Given the description of an element on the screen output the (x, y) to click on. 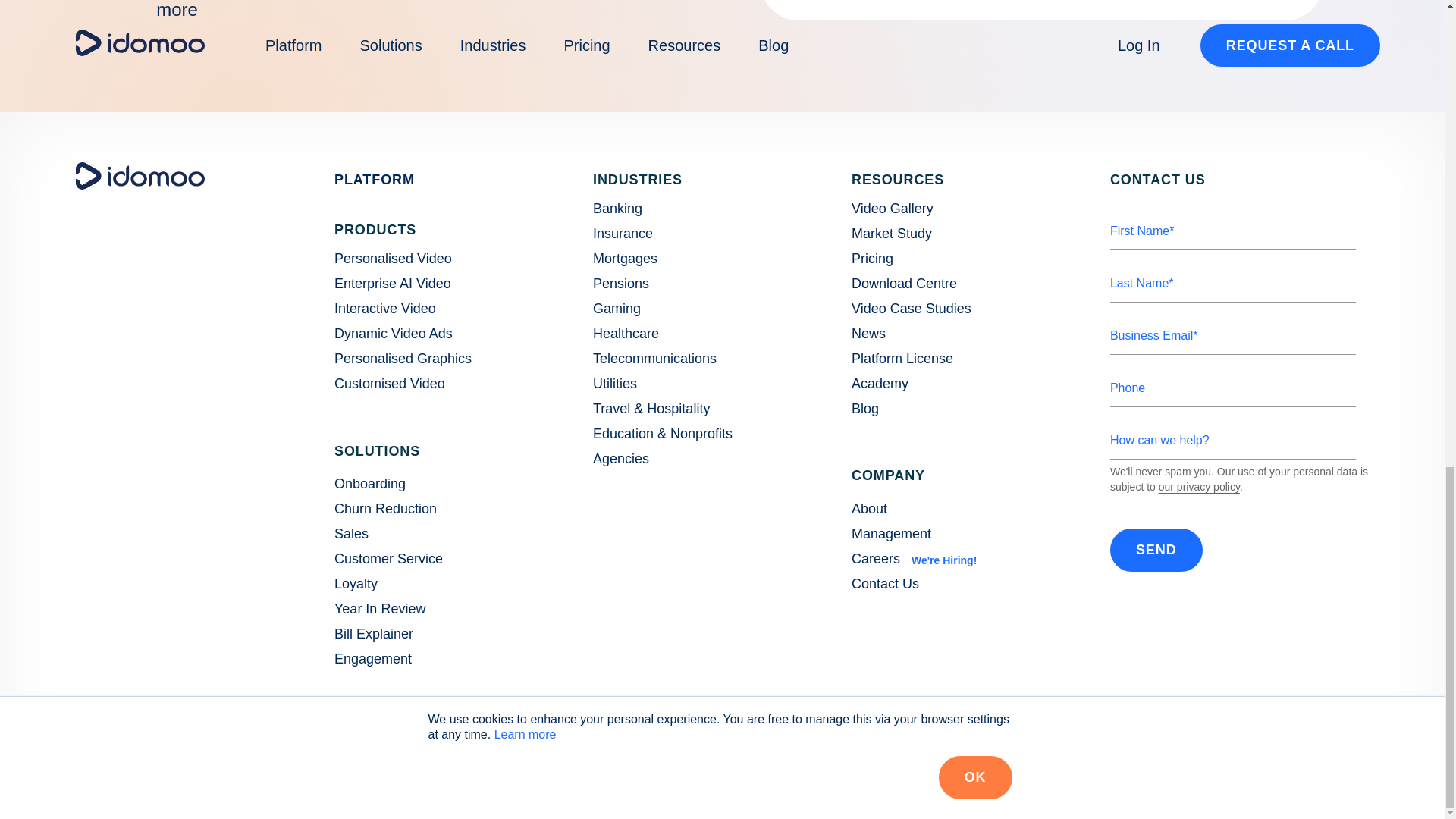
Send (1155, 549)
